Given the description of an element on the screen output the (x, y) to click on. 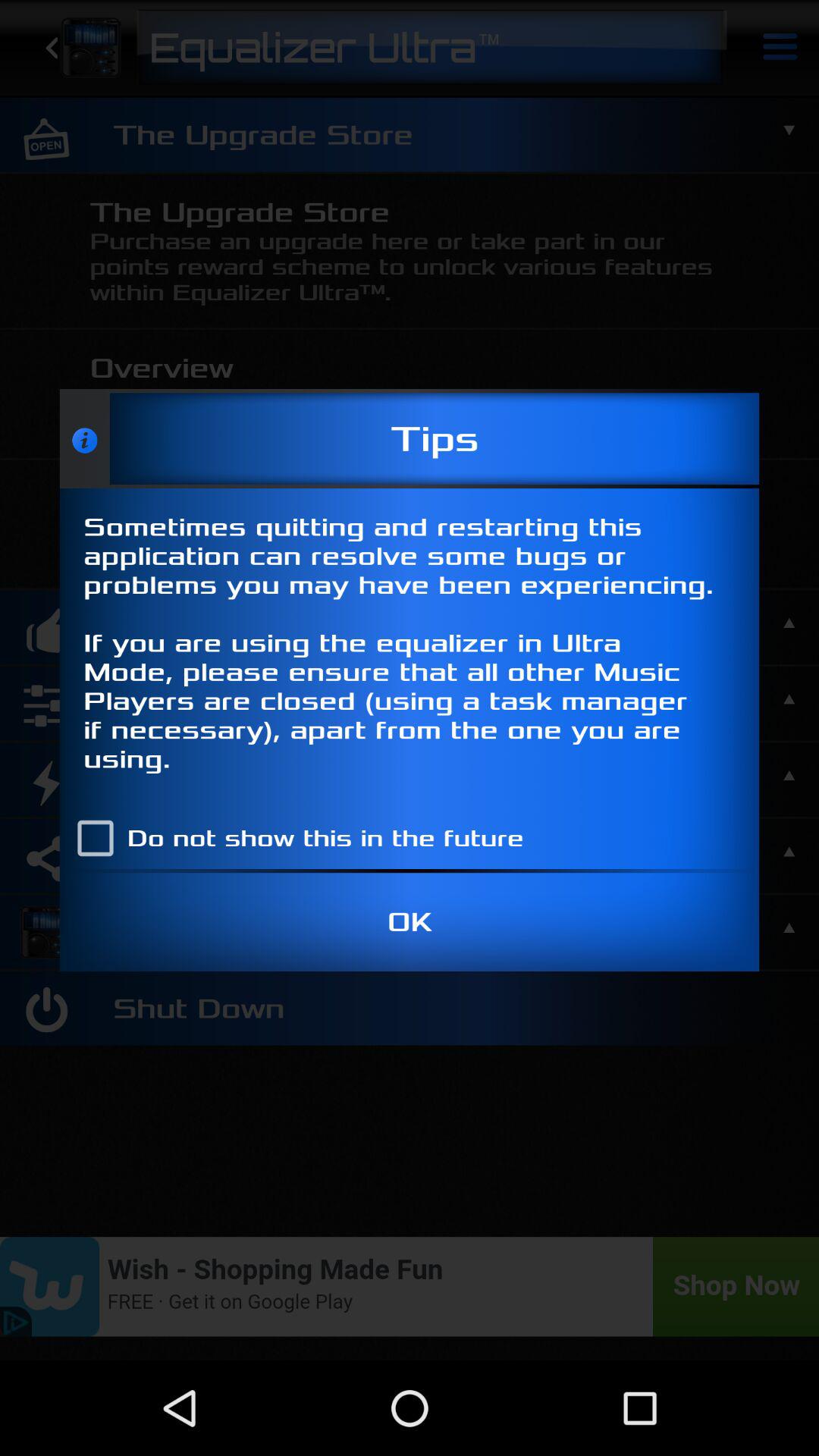
open do not show icon (293, 838)
